Given the description of an element on the screen output the (x, y) to click on. 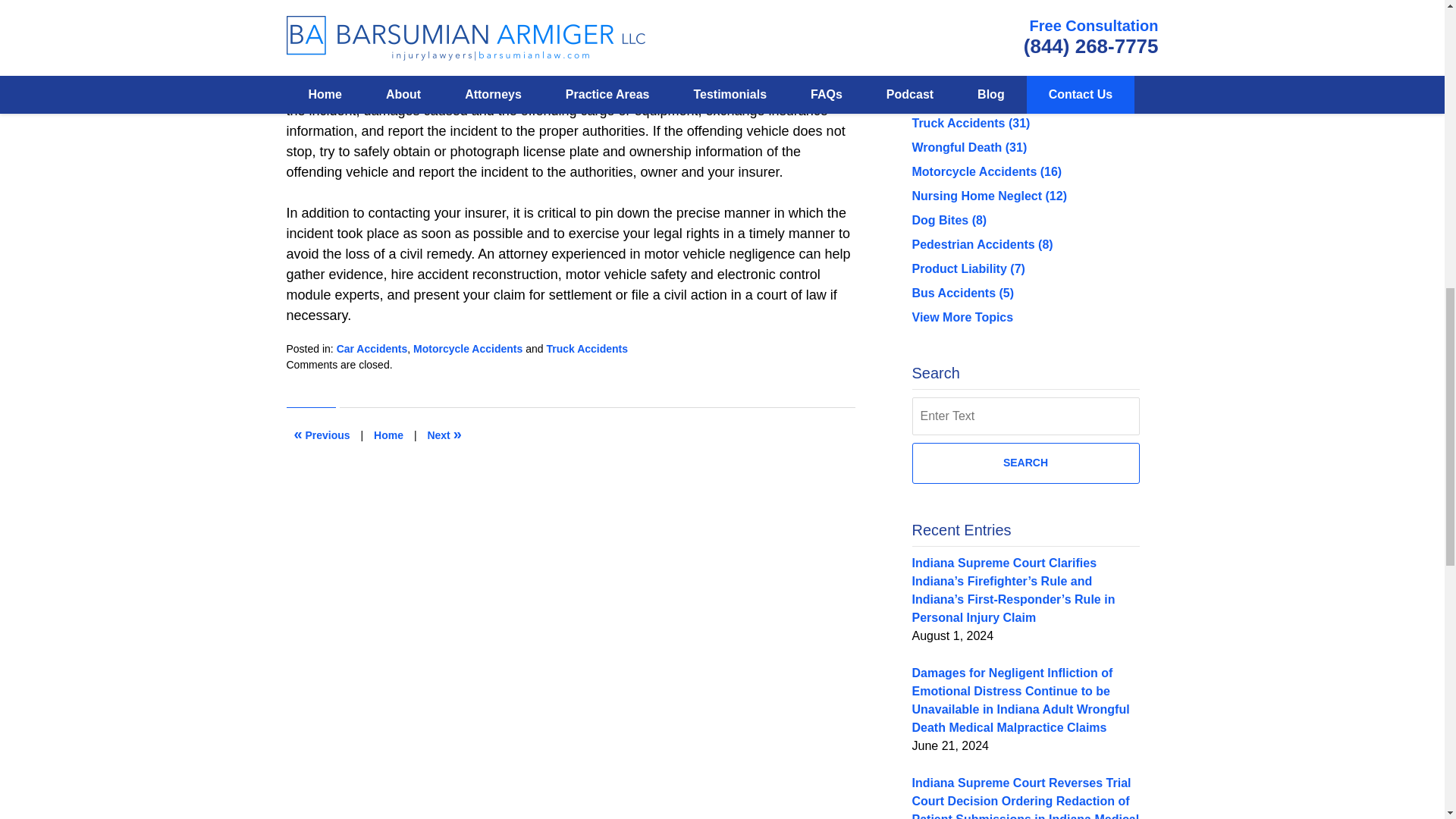
Home (388, 434)
View all posts in Car Accidents (371, 348)
View all posts in Motorcycle Accidents (467, 348)
View all posts in Truck Accidents (586, 348)
Car Accidents (371, 348)
Know the facts about premises liability claims in Indiana (322, 434)
Truck Accidents (586, 348)
truck accident (596, 69)
Motorcycle Accidents (467, 348)
